Given the description of an element on the screen output the (x, y) to click on. 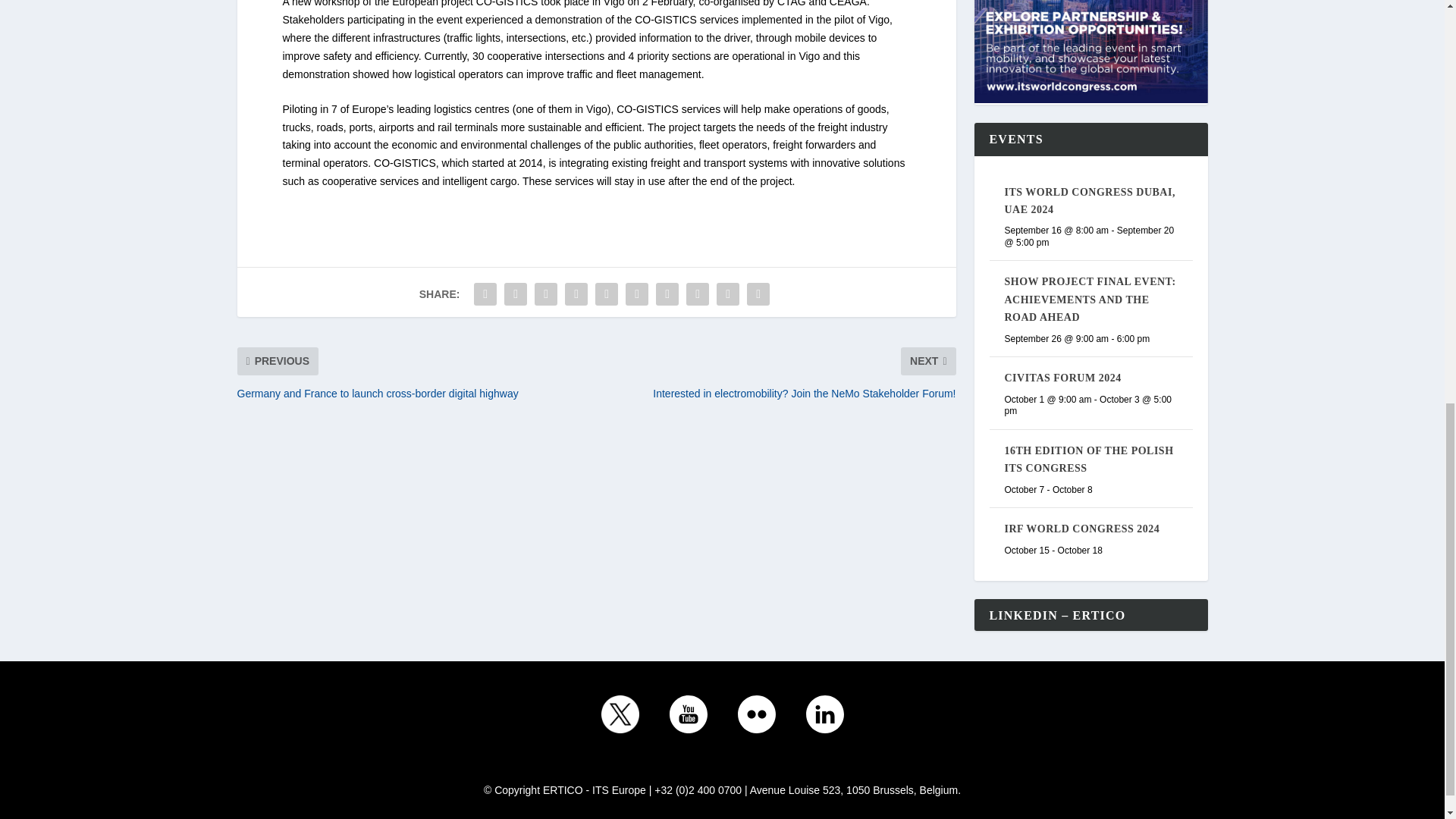
IRF WORLD CONGRESS 2024 (1081, 528)
SHOW PROJECT FINAL EVENT: ACHIEVEMENTS AND THE ROAD AHEAD (1089, 299)
16TH EDITION OF THE POLISH ITS CONGRESS (1088, 459)
ITS WORLD CONGRESS DUBAI, UAE 2024 (1089, 200)
CIVITAS FORUM 2024 (1062, 378)
